Given the description of an element on the screen output the (x, y) to click on. 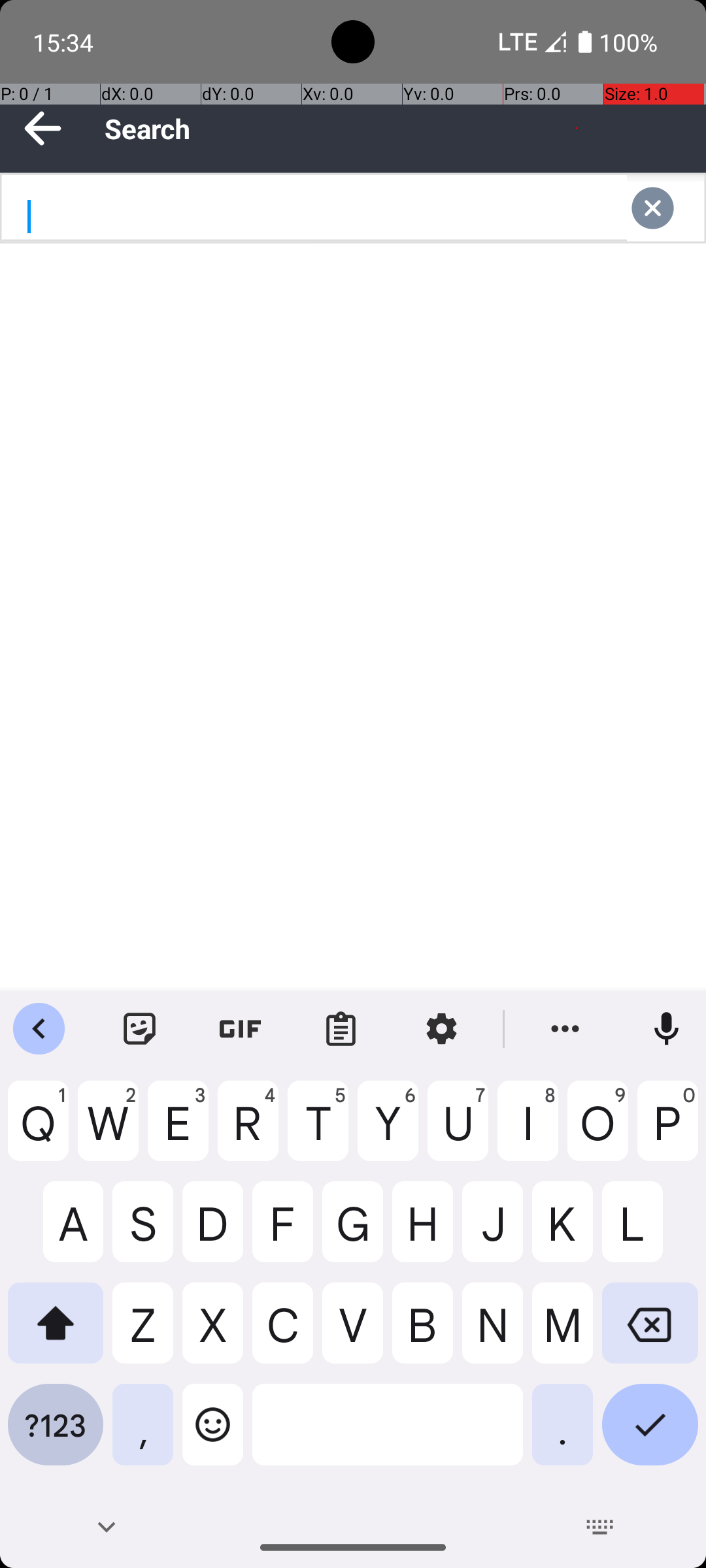
 Element type: android.widget.TextView (665, 207)
